Given the description of an element on the screen output the (x, y) to click on. 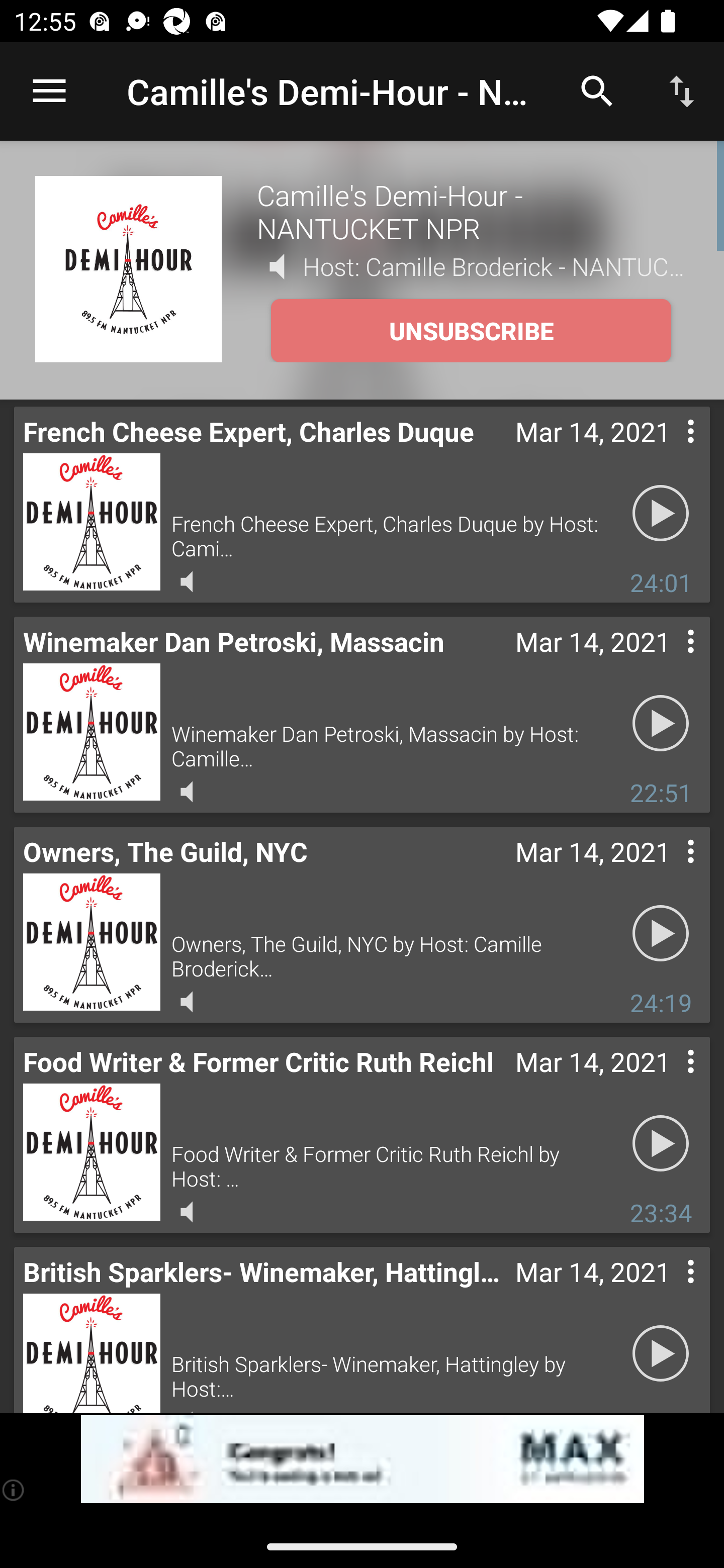
Open navigation sidebar (49, 91)
Search (597, 90)
Sort (681, 90)
UNSUBSCRIBE (470, 330)
Contextual menu (668, 451)
Play (660, 513)
Contextual menu (668, 661)
Play (660, 723)
Contextual menu (668, 870)
Play (660, 933)
Contextual menu (668, 1080)
Play (660, 1143)
Contextual menu (668, 1290)
Play (660, 1353)
